Given the description of an element on the screen output the (x, y) to click on. 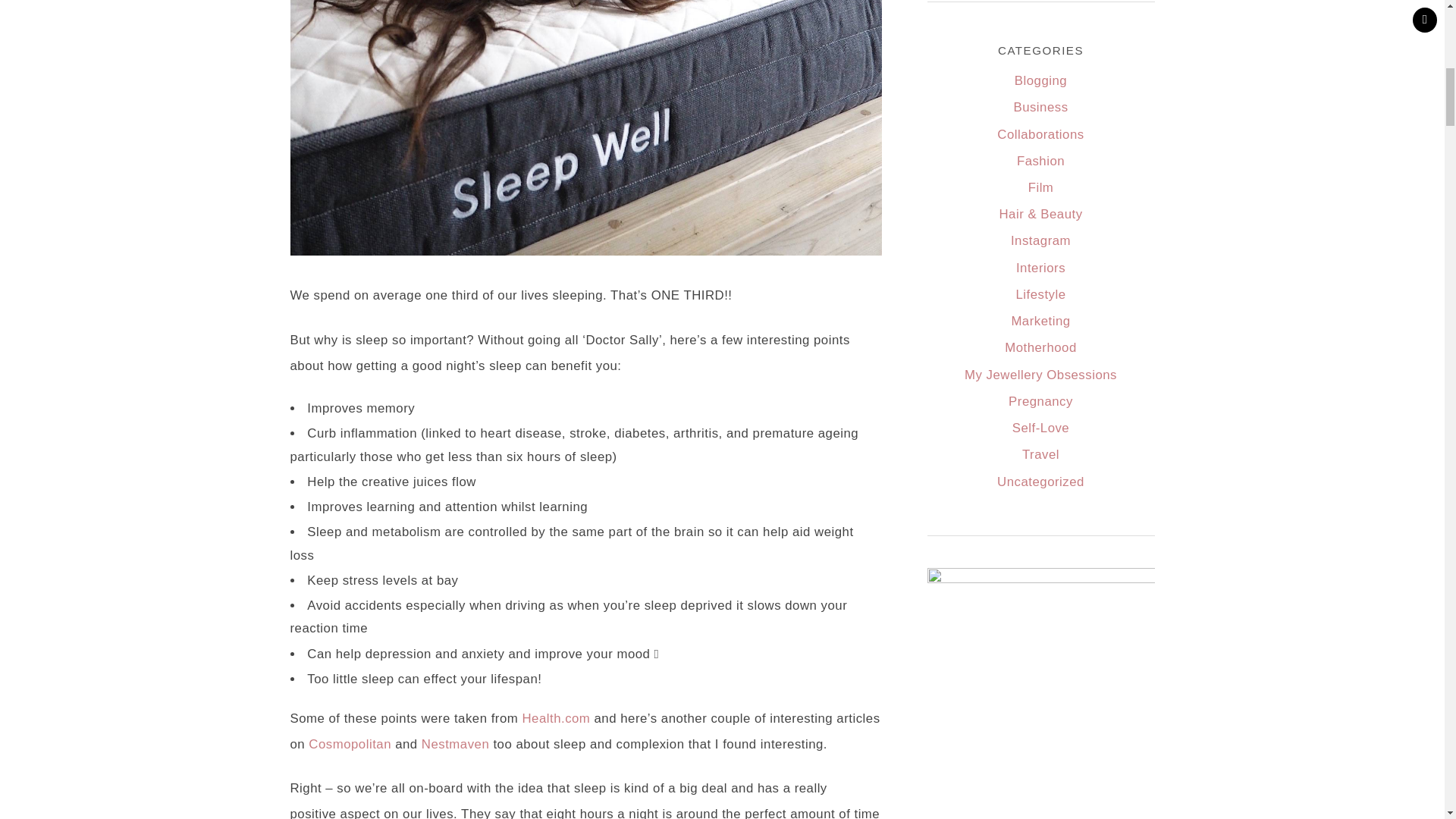
Health.com (555, 718)
Nestmaven (455, 744)
Cosmopolitan (349, 744)
